Given the description of an element on the screen output the (x, y) to click on. 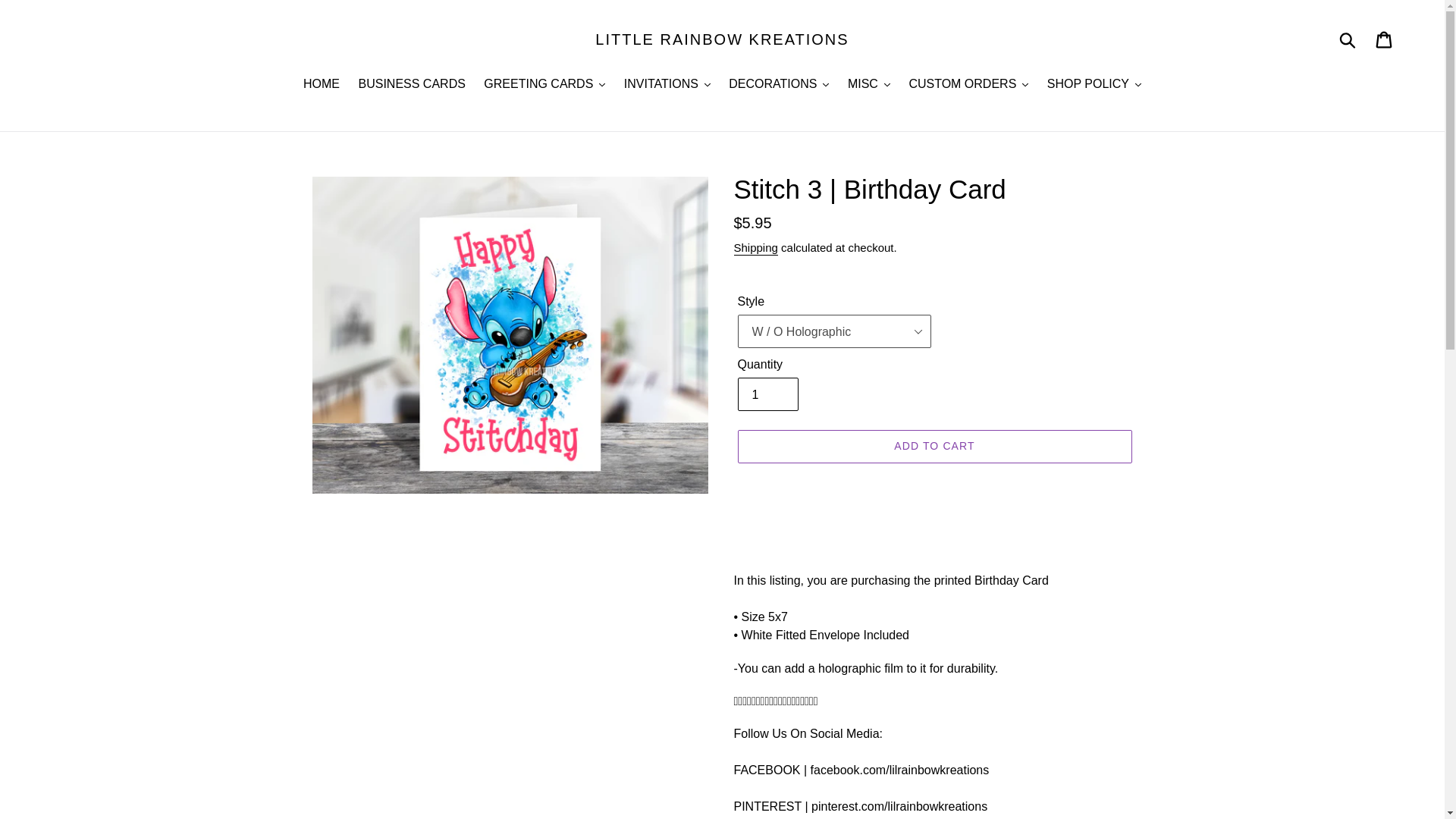
LITTLE RAINBOW KREATIONS (721, 39)
Cart (1385, 39)
1 (766, 394)
Submit (1348, 39)
